Given the description of an element on the screen output the (x, y) to click on. 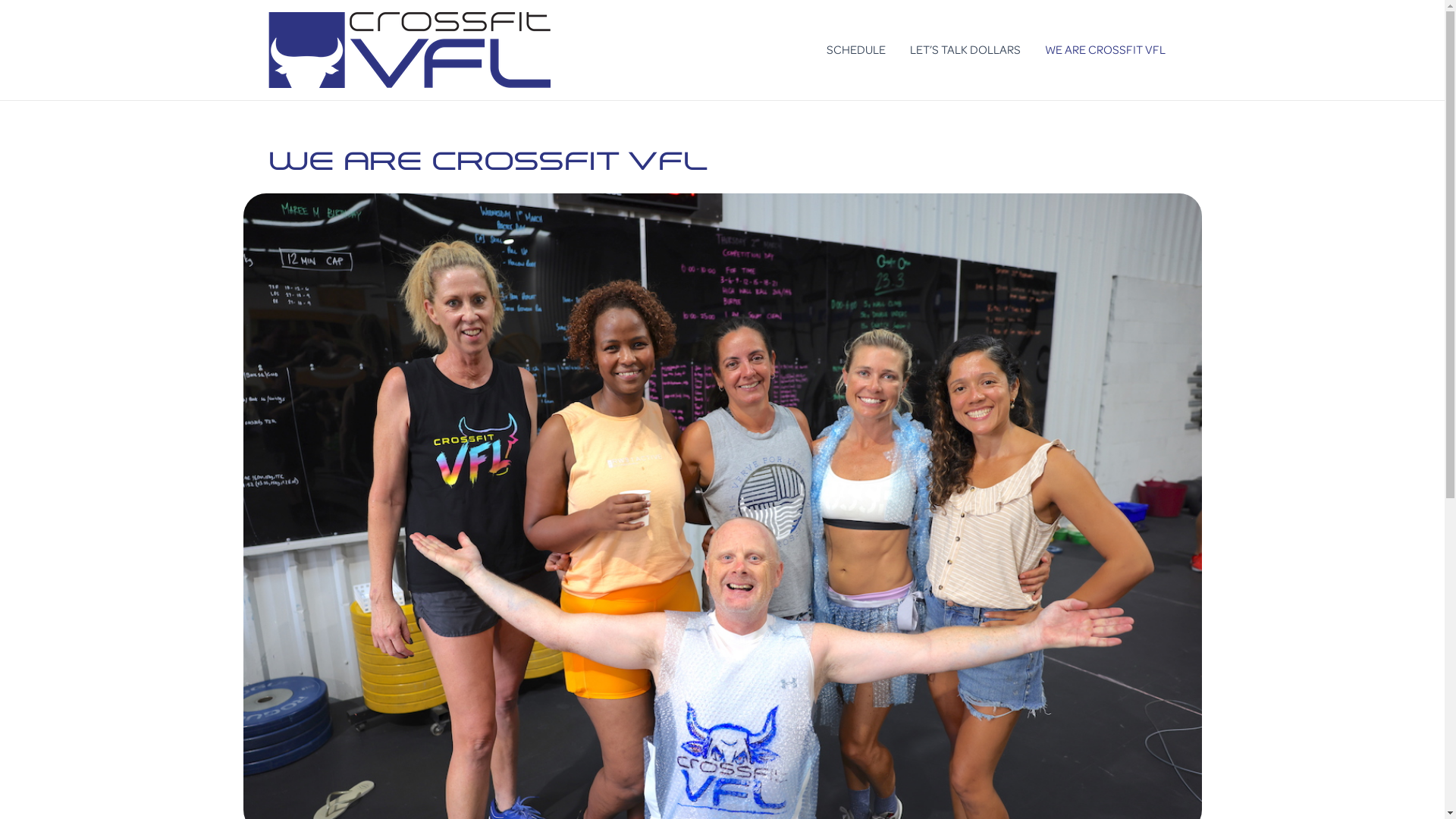
WE ARE CROSSFIT VFL Element type: text (1104, 49)
SCHEDULE Element type: text (855, 49)
